Given the description of an element on the screen output the (x, y) to click on. 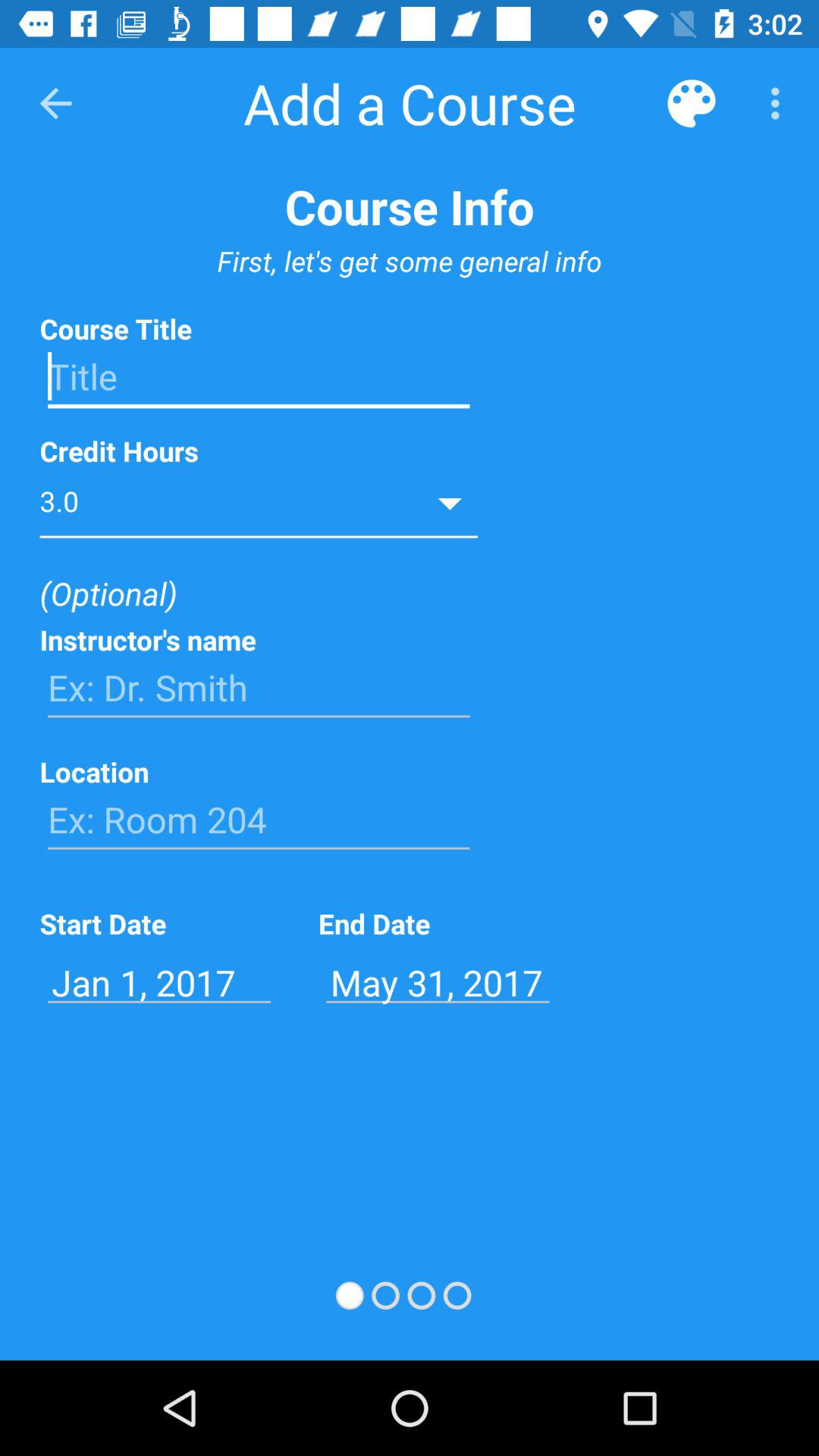
type in instructor 's name (258, 688)
